Given the description of an element on the screen output the (x, y) to click on. 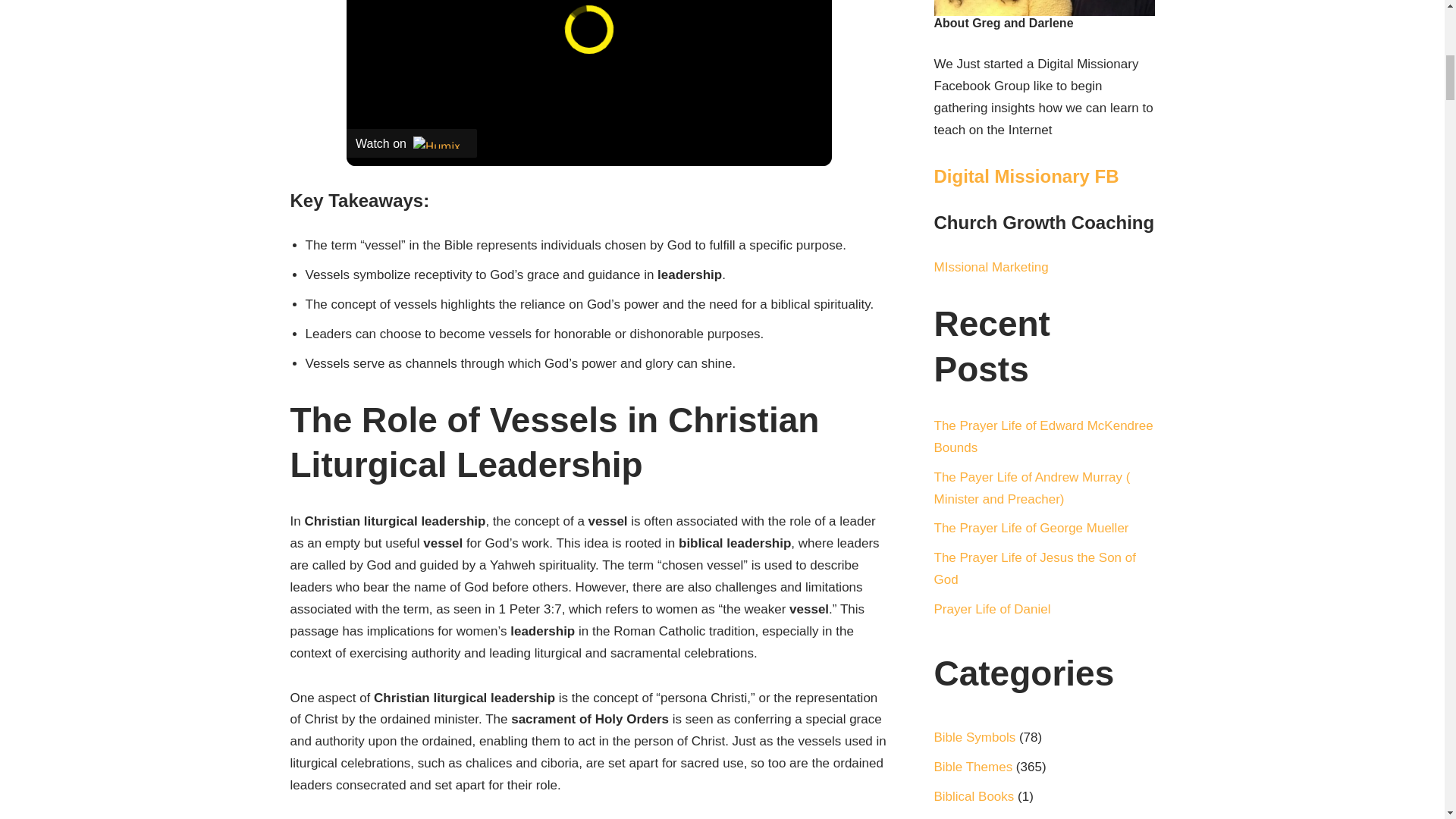
Watch on (411, 143)
Digital Missionary FB (1026, 176)
The Prayer Life of Edward McKendree Bounds (1043, 436)
MIssional Marketing (991, 267)
